Given the description of an element on the screen output the (x, y) to click on. 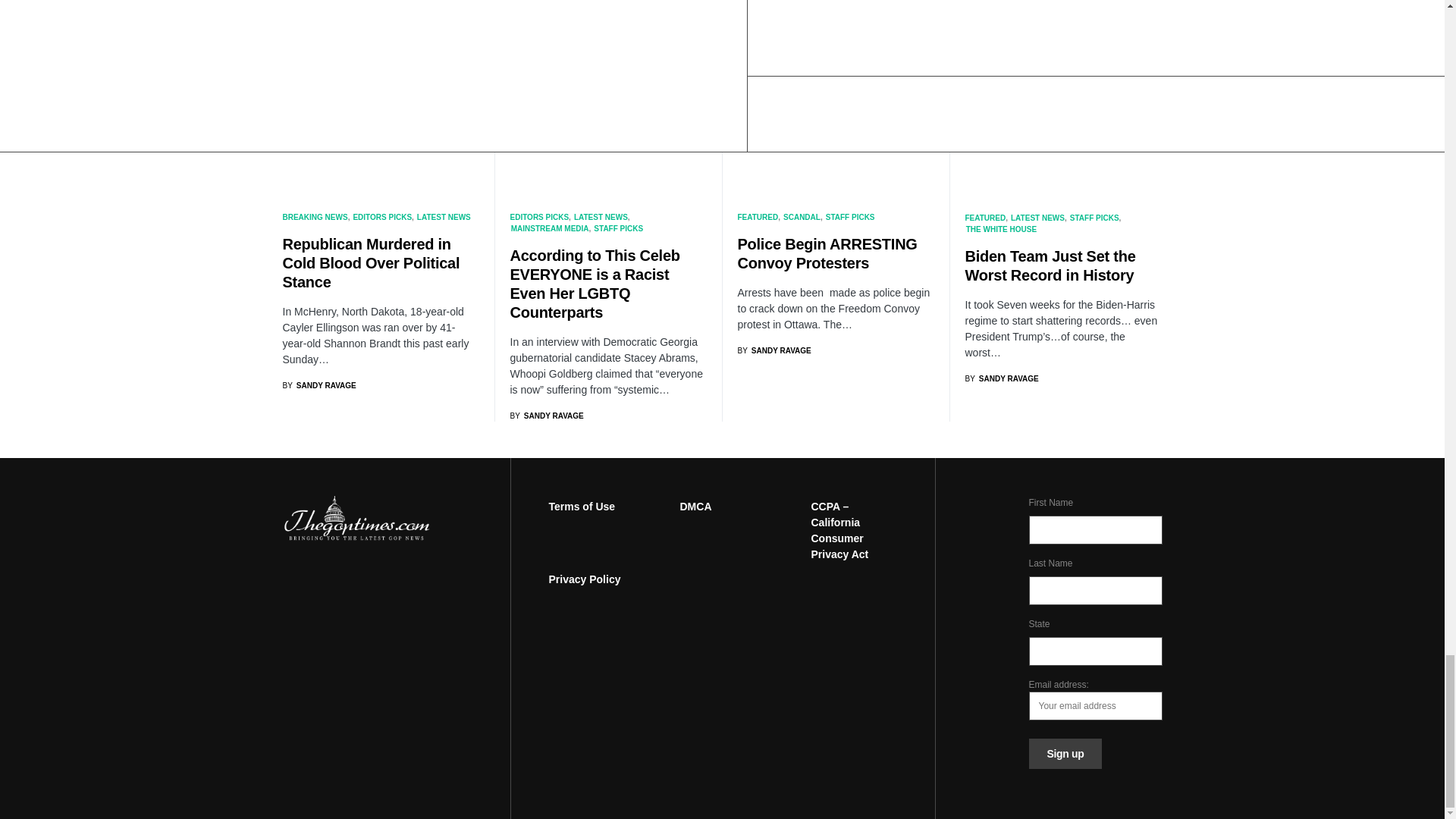
View all posts by Sandy Ravage (1000, 378)
View all posts by Sandy Ravage (773, 350)
View all posts by Sandy Ravage (546, 415)
View all posts by Sandy Ravage (318, 40)
Sign up (1064, 753)
View all posts by Sandy Ravage (1000, 18)
View all posts by Sandy Ravage (318, 385)
